Given the description of an element on the screen output the (x, y) to click on. 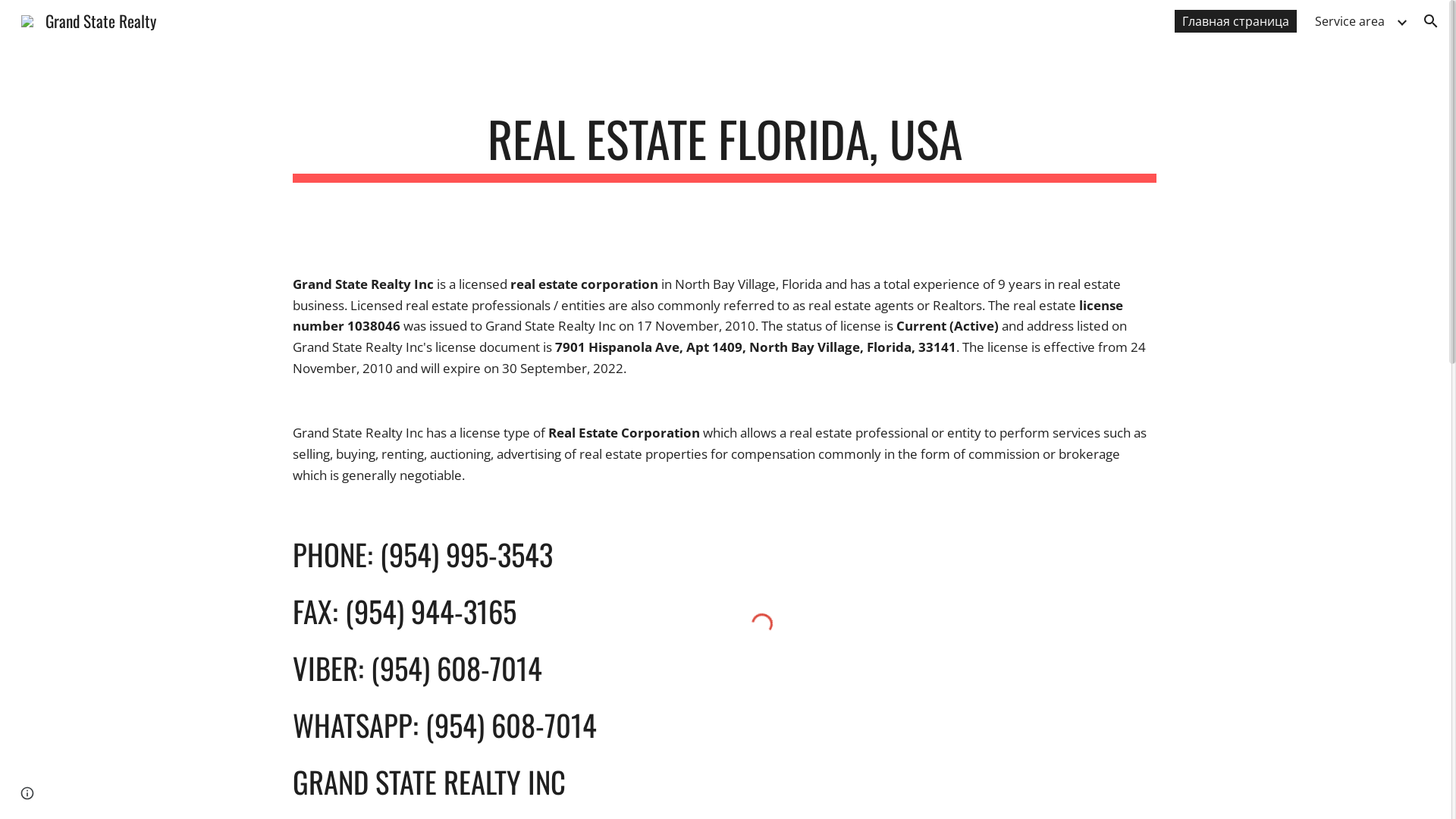
Grand State Realty Element type: text (88, 18)
Custom embed Element type: hover (761, 623)
Expand/Collapse Element type: hover (1401, 20)
Service area Element type: text (1349, 20)
